Given the description of an element on the screen output the (x, y) to click on. 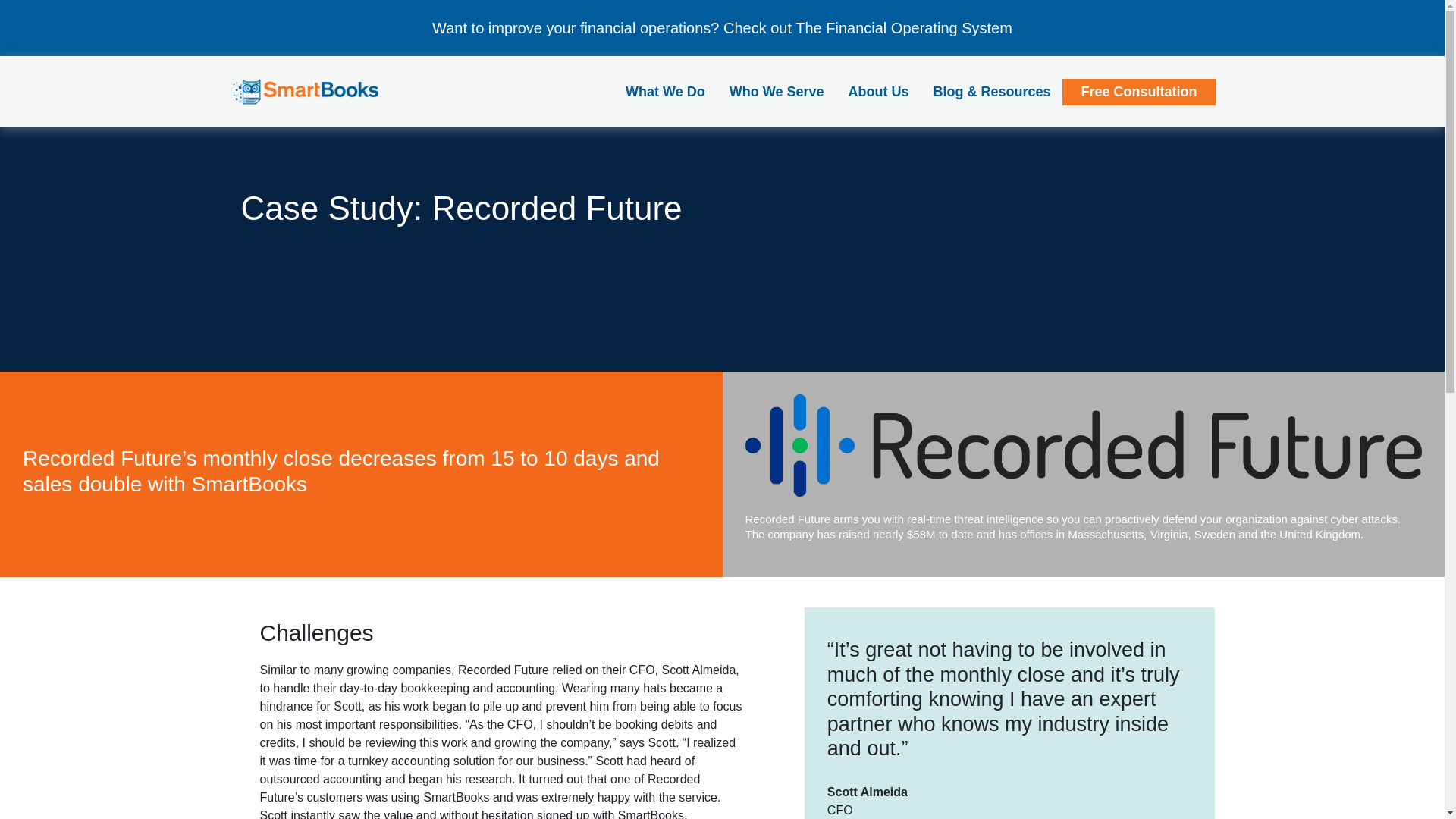
About Us (877, 91)
Free Consultation (1138, 91)
Who We Serve (776, 91)
What We Do (664, 91)
